Given the description of an element on the screen output the (x, y) to click on. 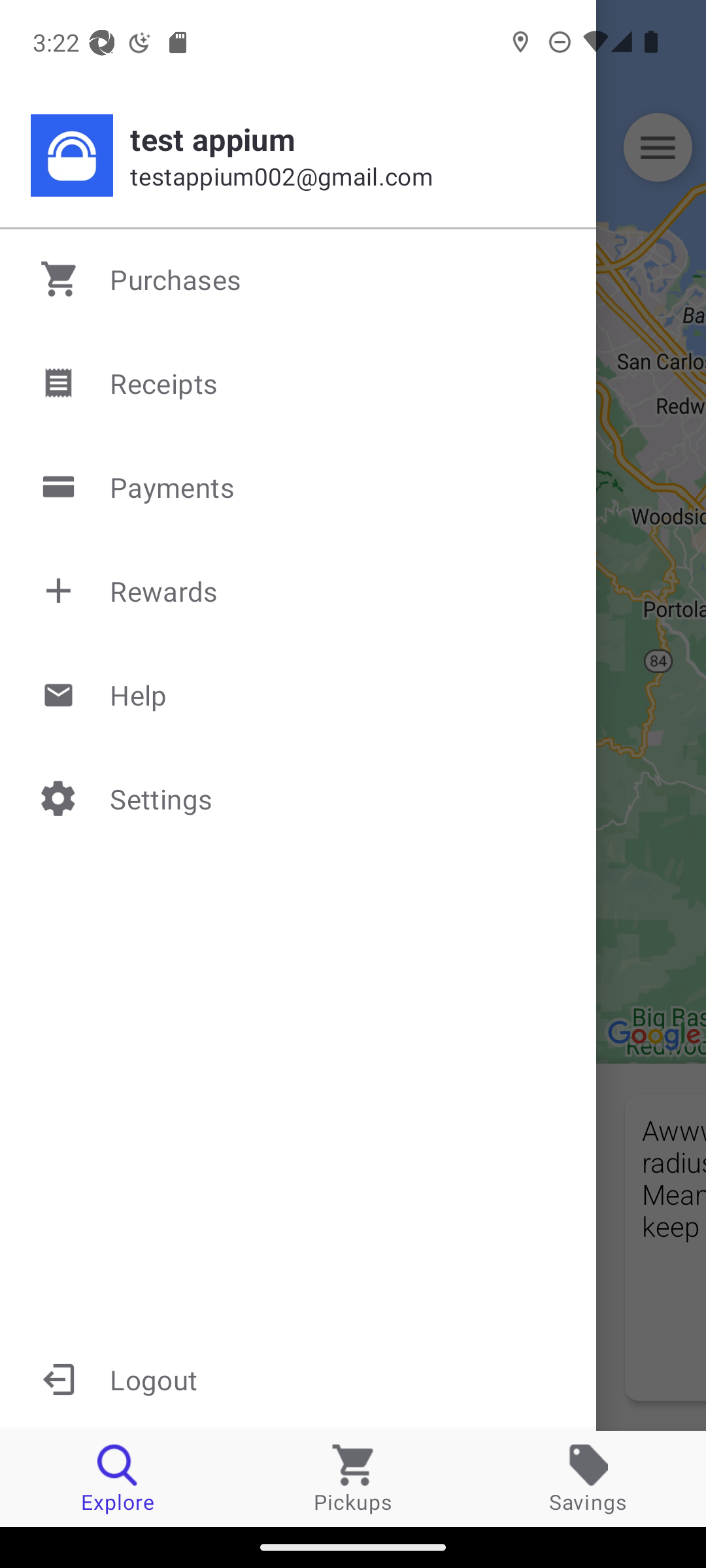
Purchases (299, 278)
Receipts (299, 382)
Payments (299, 487)
Rewards (299, 590)
Help (299, 694)
Settings (299, 797)
Logout (297, 1379)
Pickups (352, 1478)
Savings (588, 1478)
